Given the description of an element on the screen output the (x, y) to click on. 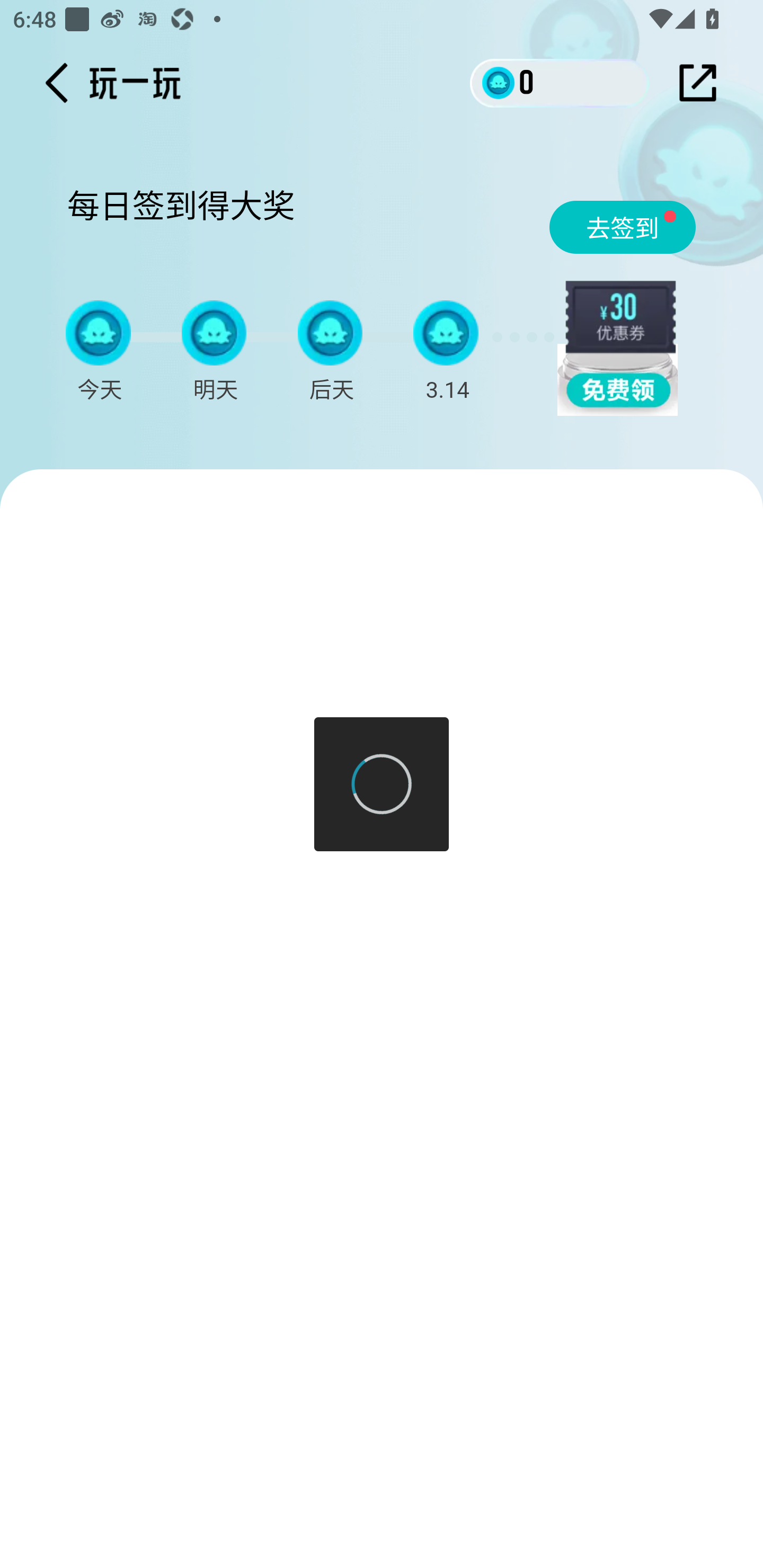
0 (559, 82)
每日签到得大奖 去签到 今天 明天 后天 3.14 (387, 298)
